Given the description of an element on the screen output the (x, y) to click on. 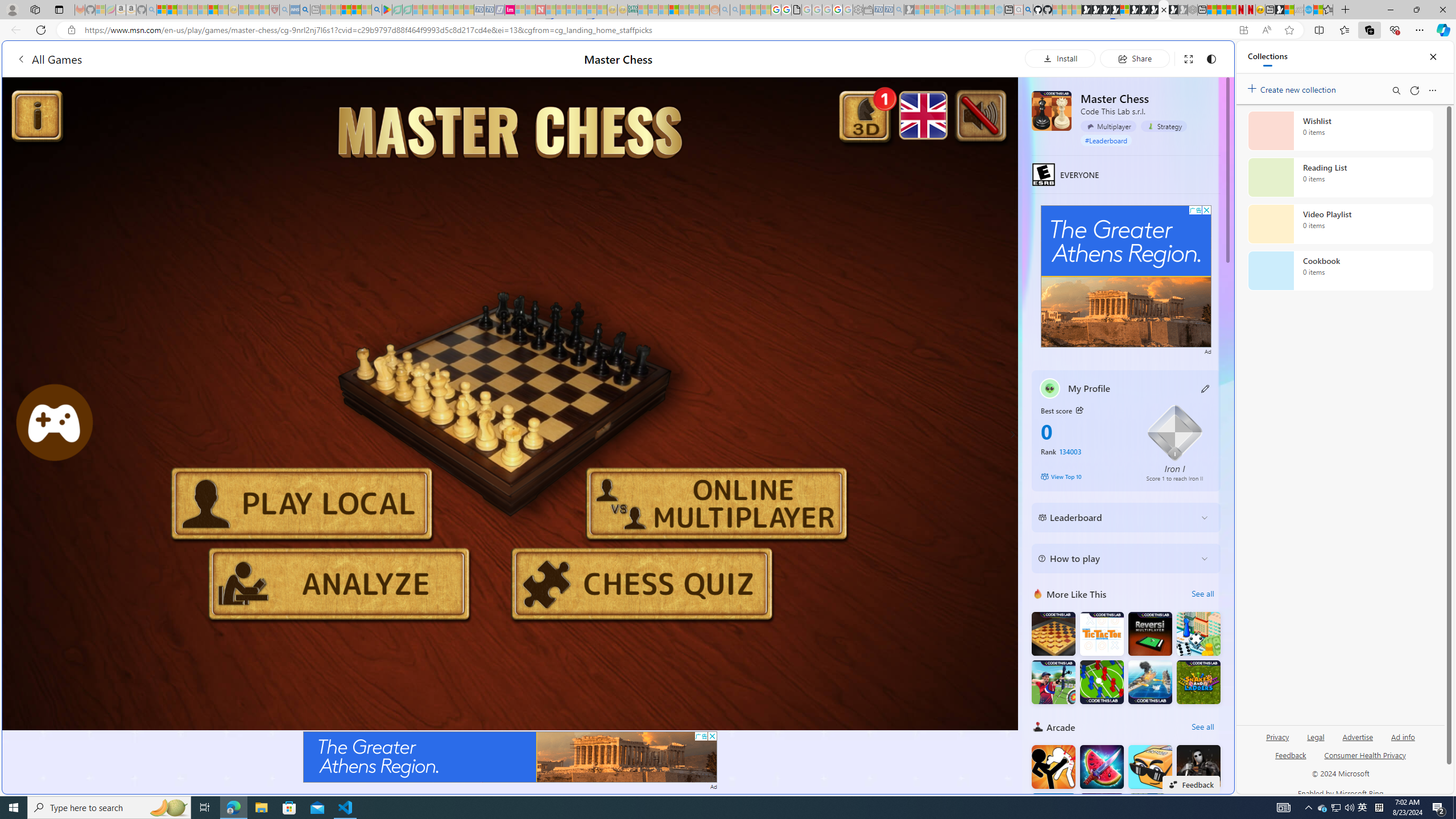
Advertisement (1126, 276)
Class: button (1079, 410)
All Games (216, 58)
